Given the description of an element on the screen output the (x, y) to click on. 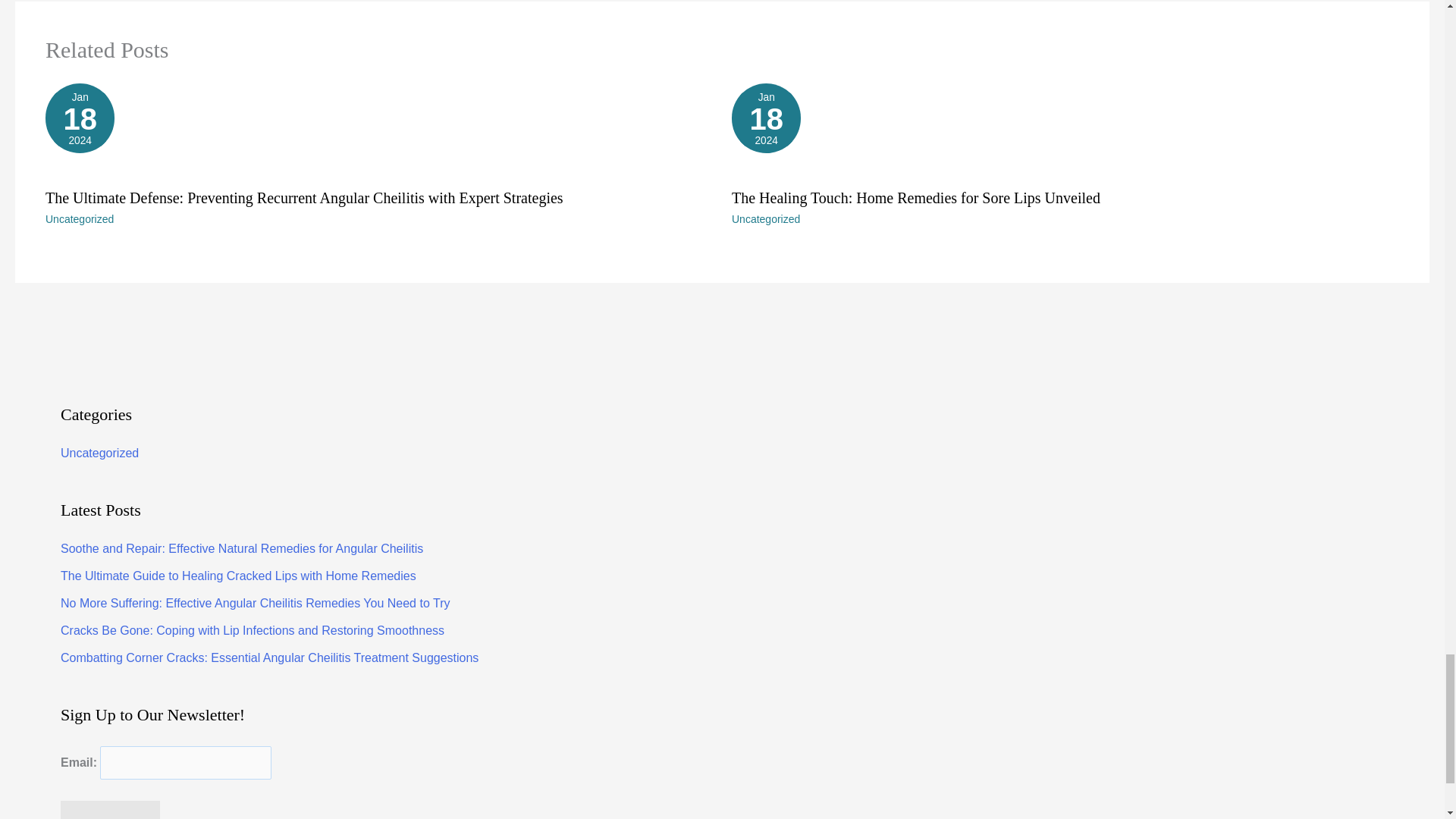
Uncategorized (99, 452)
Subscribe (1065, 130)
The Healing Touch: Home Remedies for Sore Lips Unveiled (110, 809)
Uncategorized (916, 197)
